Given the description of an element on the screen output the (x, y) to click on. 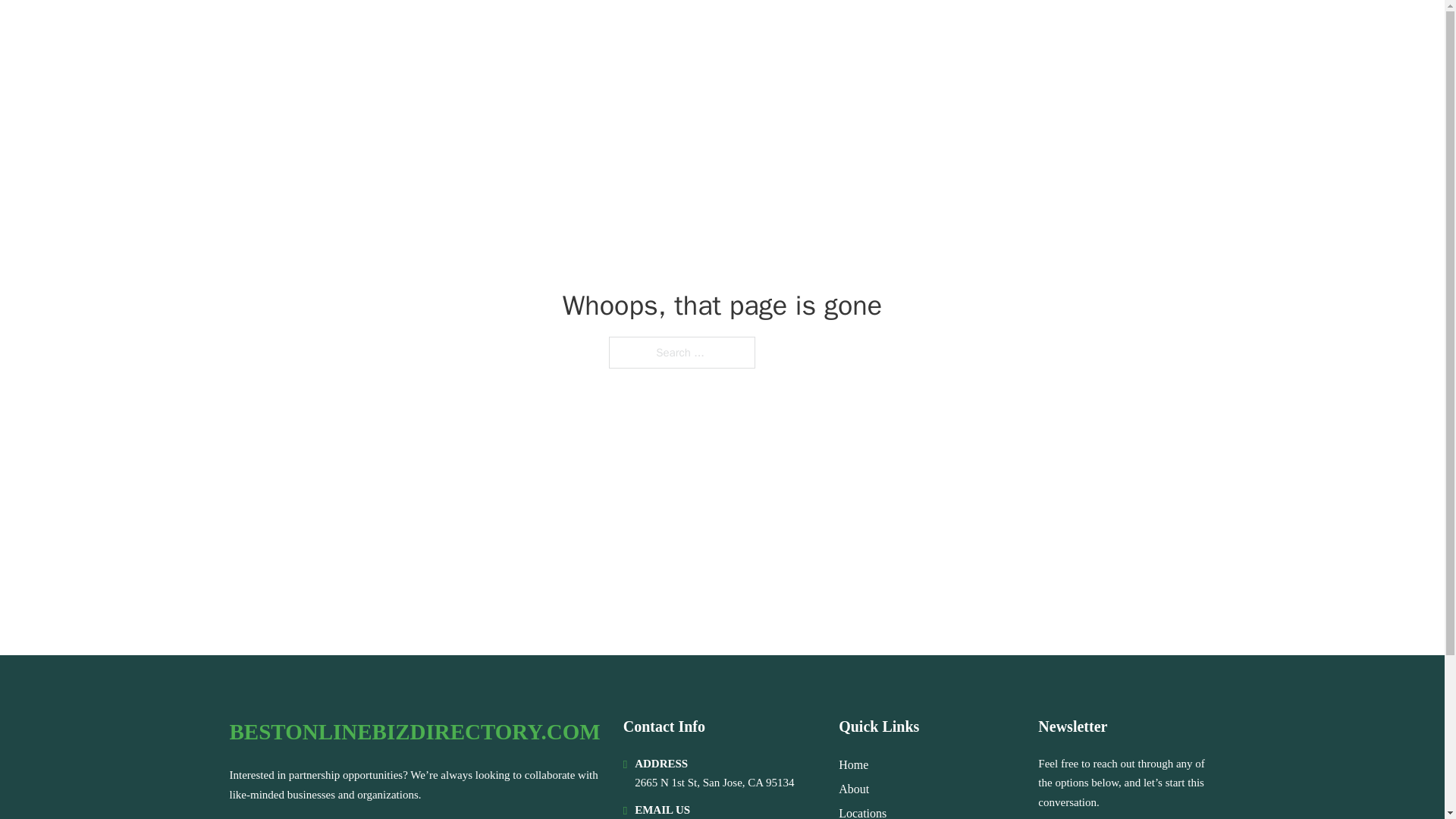
BESTONLINEBIZDIRECTORY.COM (413, 732)
BESTONLINEBIZDIRECTORY.COM (433, 31)
Locations (862, 811)
LOCATIONS (1098, 31)
Home (852, 764)
About (853, 788)
HOME (1025, 31)
